Given the description of an element on the screen output the (x, y) to click on. 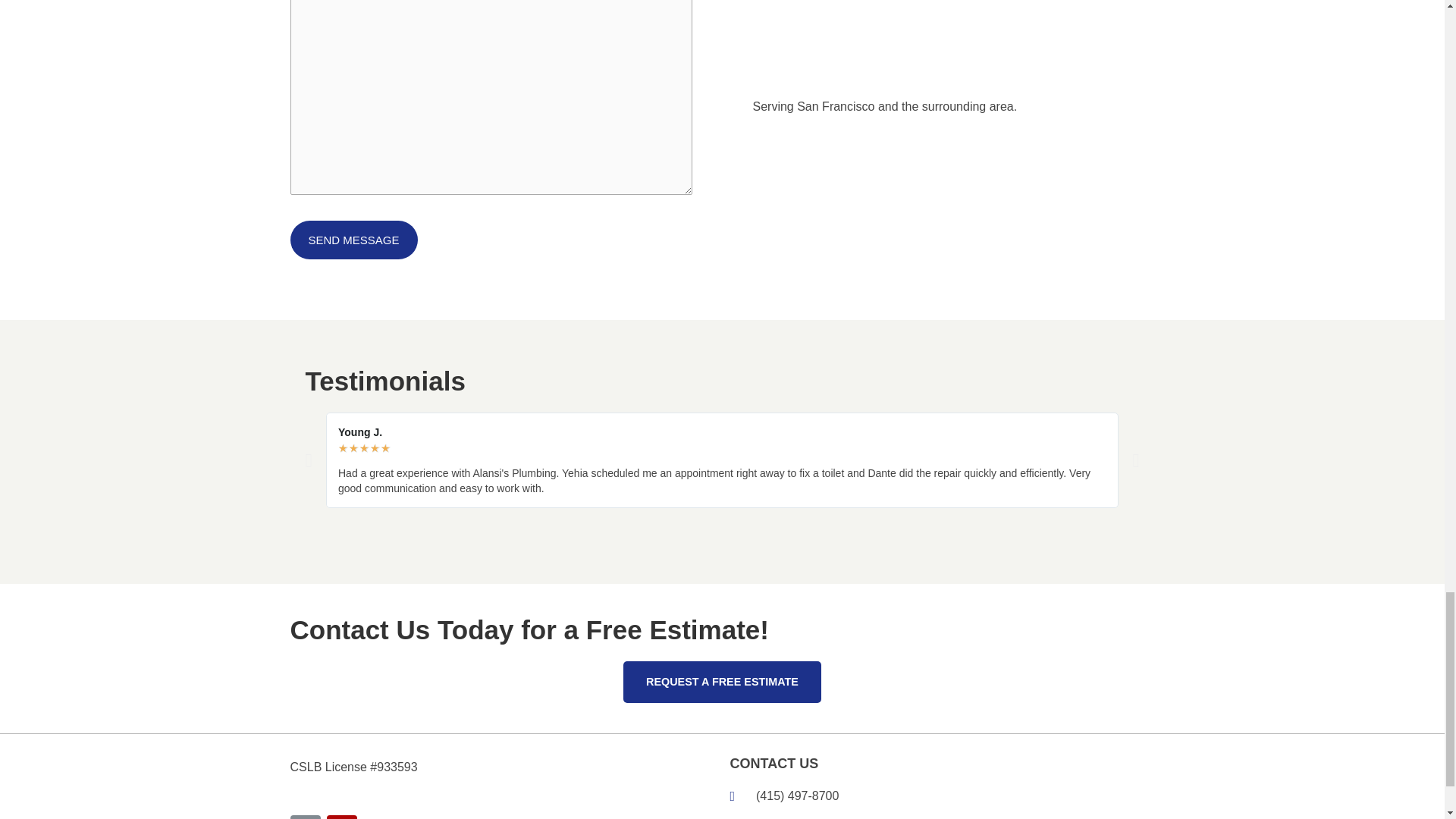
REQUEST A FREE ESTIMATE (722, 680)
Send Message (352, 239)
Send Message (352, 239)
